Given the description of an element on the screen output the (x, y) to click on. 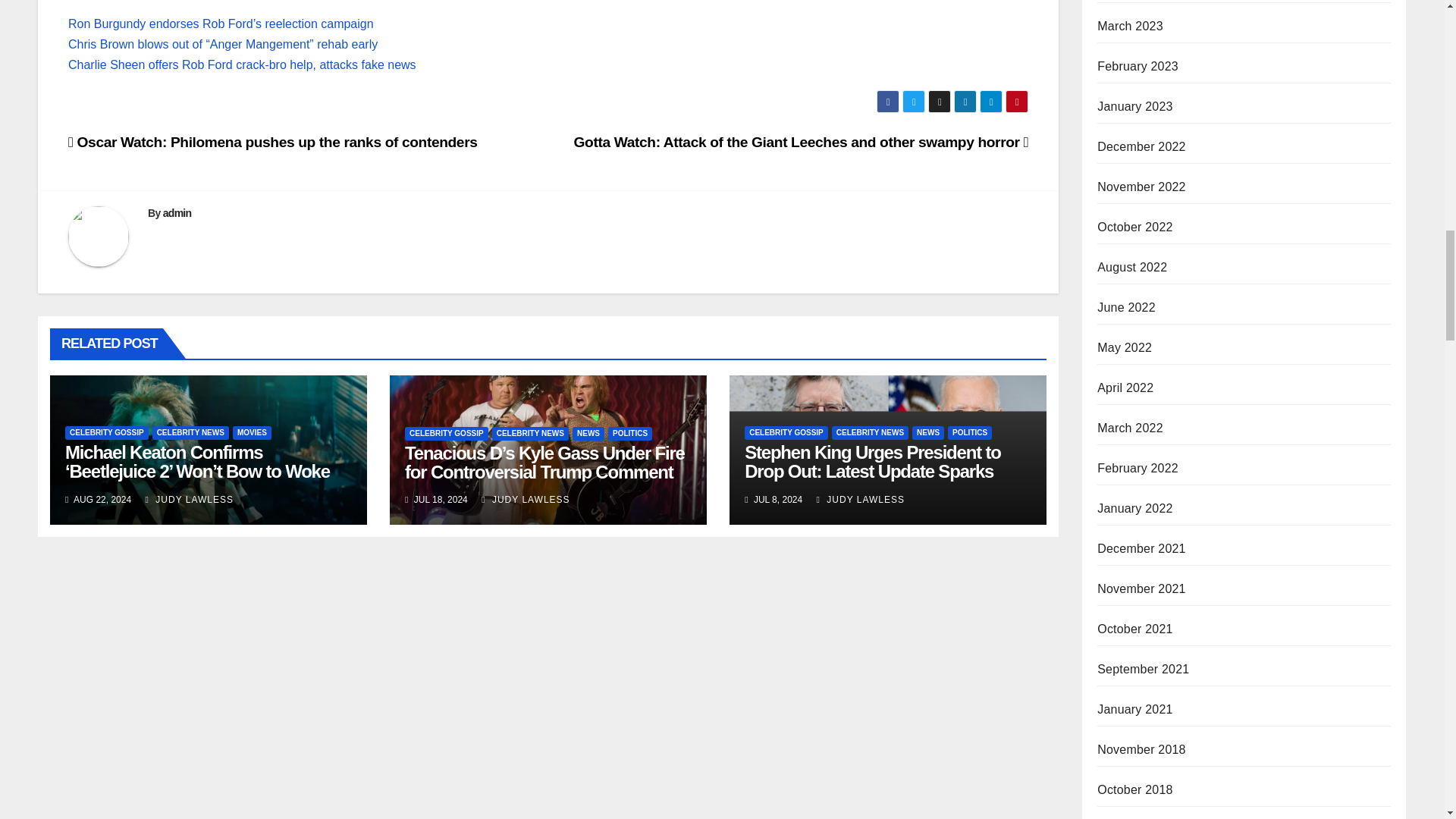
Oscar Watch: Philomena pushes up the ranks of contenders (272, 141)
CELEBRITY GOSSIP (445, 433)
JUDY LAWLESS (188, 499)
MOVIES (251, 432)
CELEBRITY NEWS (190, 432)
admin (177, 213)
CELEBRITY GOSSIP (106, 432)
